Given the description of an element on the screen output the (x, y) to click on. 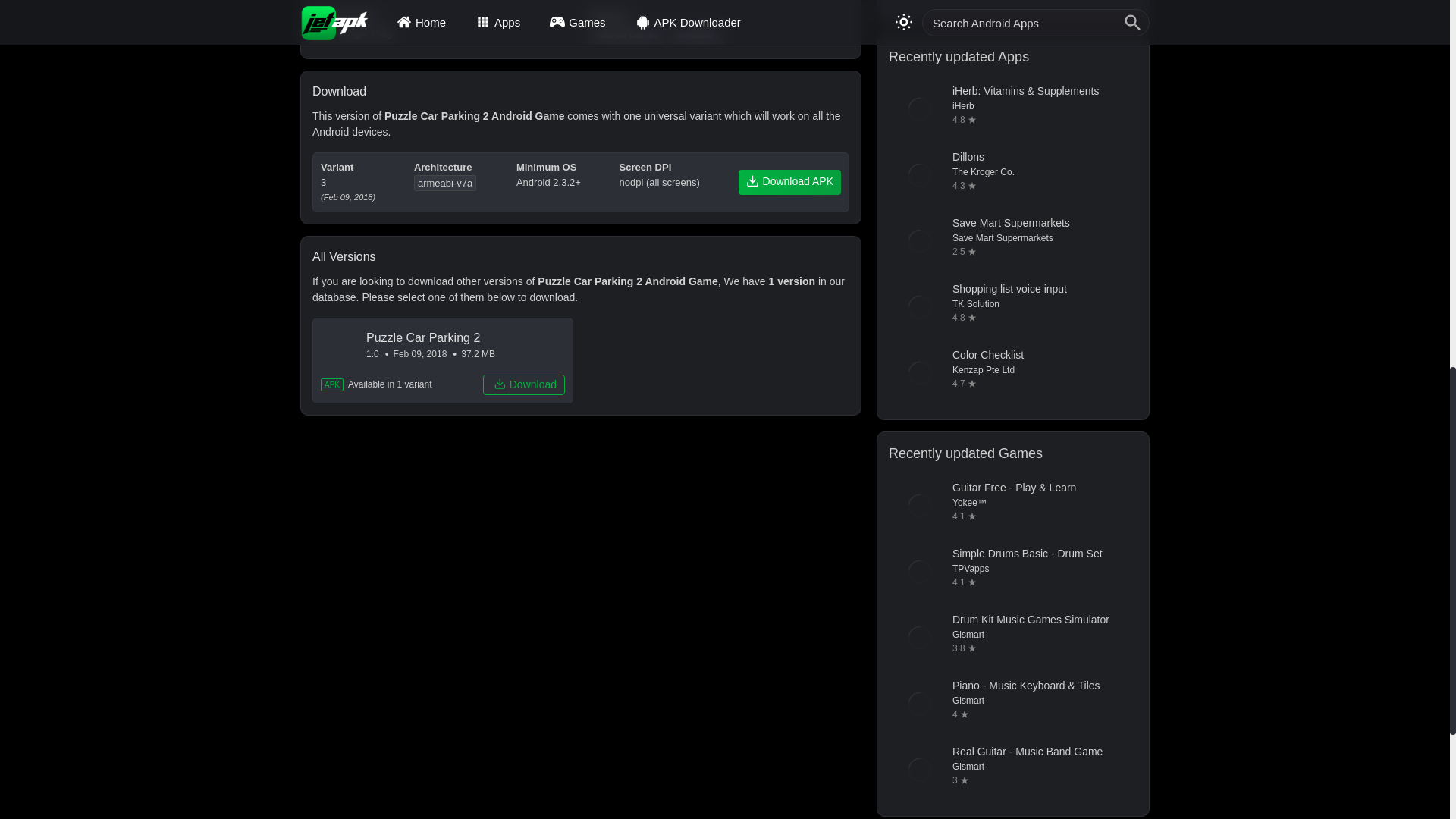
Google Play (443, 33)
Shopping list voice input Latest Android APK (1012, 307)
Simulation (695, 34)
Puzzle Car Parking 2 1.0 older version APK (443, 360)
Car Parking Simulator 1.0 Android APK (1012, 3)
Color Checklist 1.8 Android APK (1012, 373)
Save Mart Supermarkets 4.8.3 Android APK (1012, 240)
Android Games (626, 34)
Simple Drums Basic - Drum Set 1.3.9 Android APK (1012, 571)
Dillons 71.3 Android APK (1012, 175)
Drum Kit Music Games Simulator 3.45.2 Android APK (1012, 637)
